Given the description of an element on the screen output the (x, y) to click on. 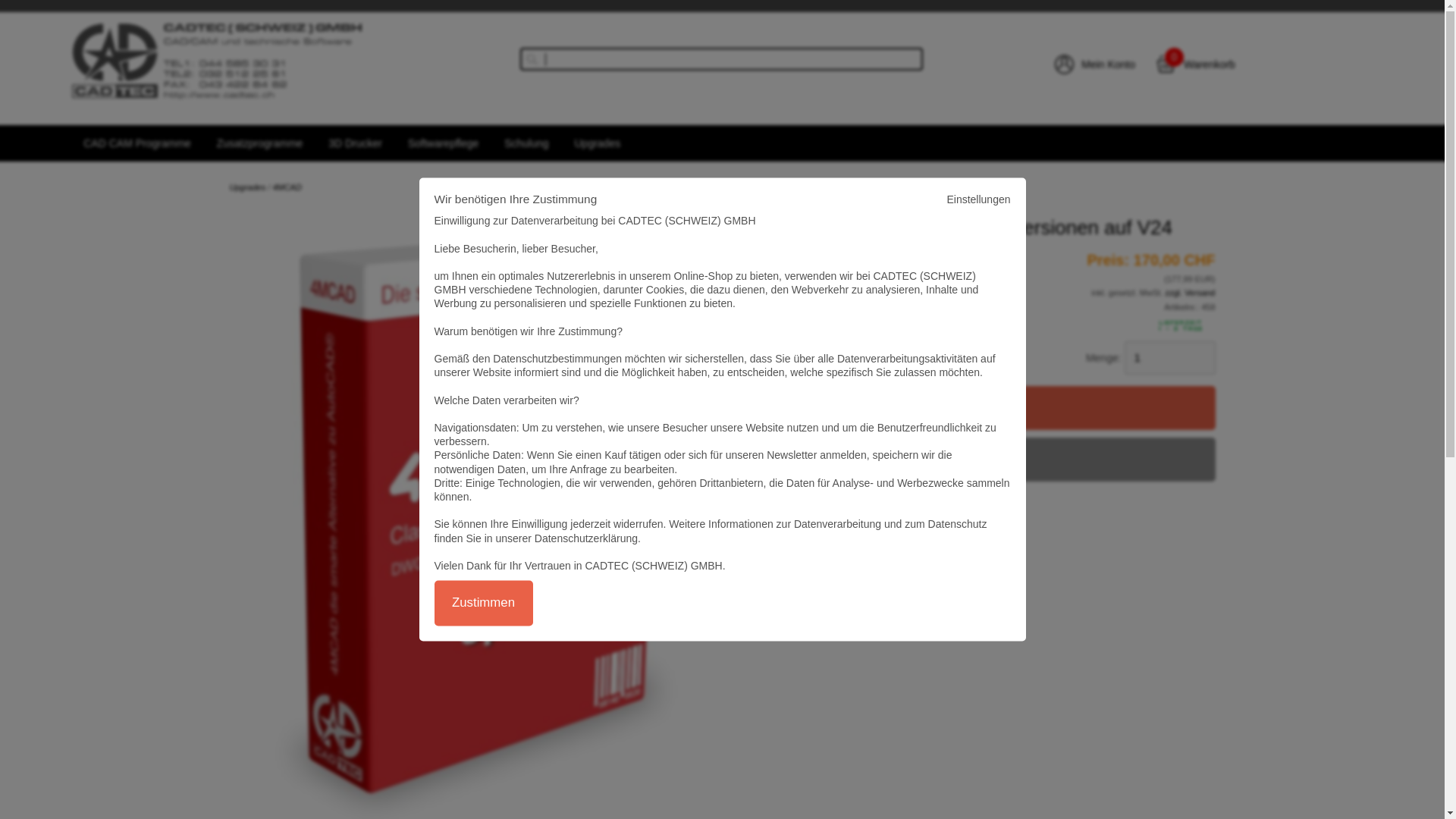
Softwarepflege Element type: text (442, 143)
Merkzettel Element type: text (967, 459)
CAD CAM Programme Element type: text (137, 143)
In den Warenkorb Element type: text (967, 407)
zzgl. Versand Element type: text (1189, 292)
Upgrades Element type: text (596, 143)
4MCAD Element type: text (286, 186)
Zustimmen Element type: text (482, 603)
Mein Konto Element type: text (1108, 64)
Schulung Element type: text (525, 143)
Zusatzprogramme Element type: text (259, 143)
3D Drucker Element type: text (354, 143)
Upgrades Element type: text (247, 186)
0
Warenkorb Element type: text (1209, 64)
